Given the description of an element on the screen output the (x, y) to click on. 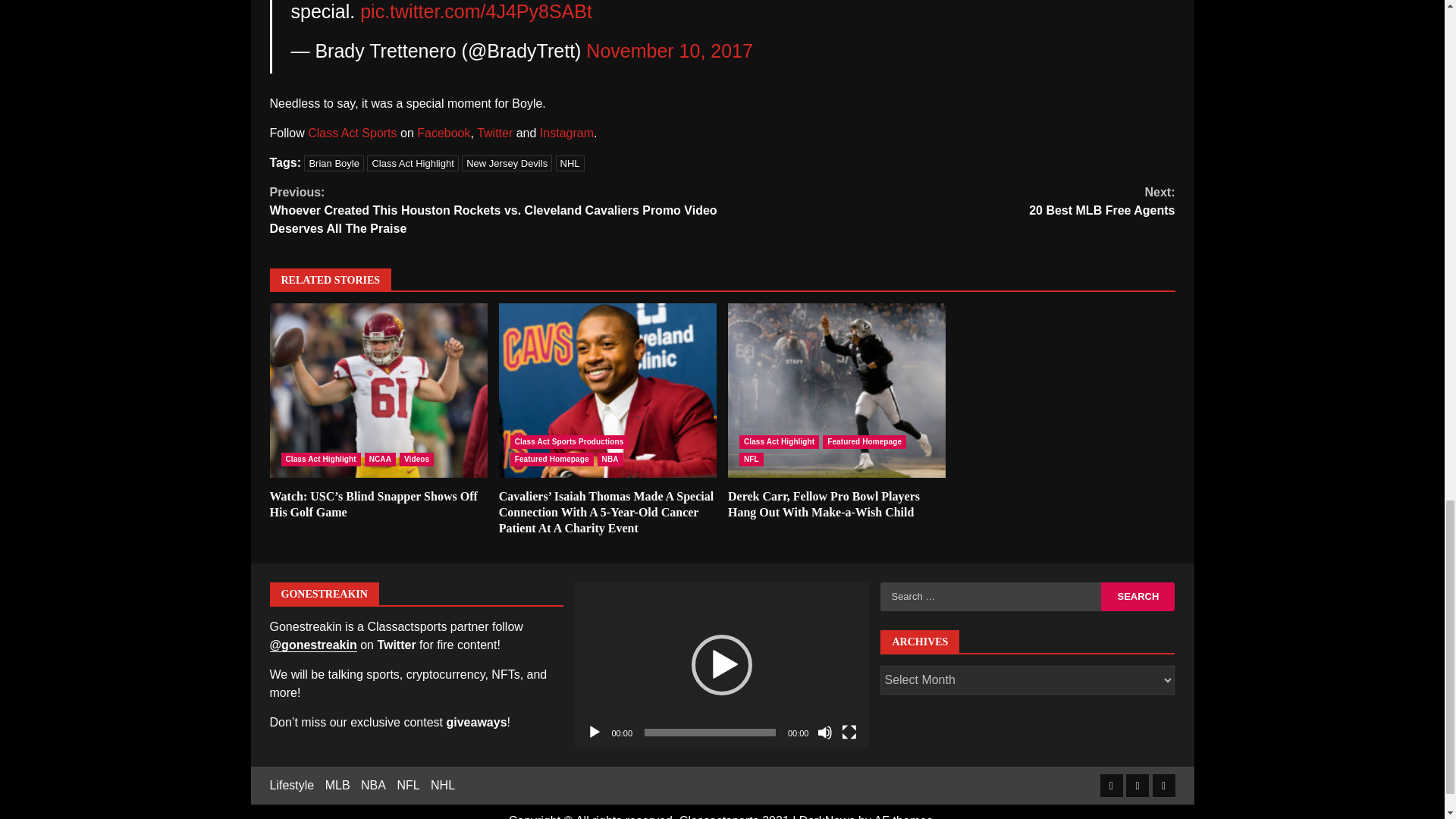
NHL (570, 163)
New Jersey Devils (506, 163)
Instagram (567, 132)
Class Act Highlight (320, 459)
Class Act Sports Productions (569, 441)
November 10, 2017 (669, 50)
Twitter (494, 132)
Videos (415, 459)
Brian Boyle (333, 163)
NCAA (380, 459)
Play (594, 732)
Facebook (443, 132)
Mute (824, 732)
Class Act Highlight (412, 163)
